Given the description of an element on the screen output the (x, y) to click on. 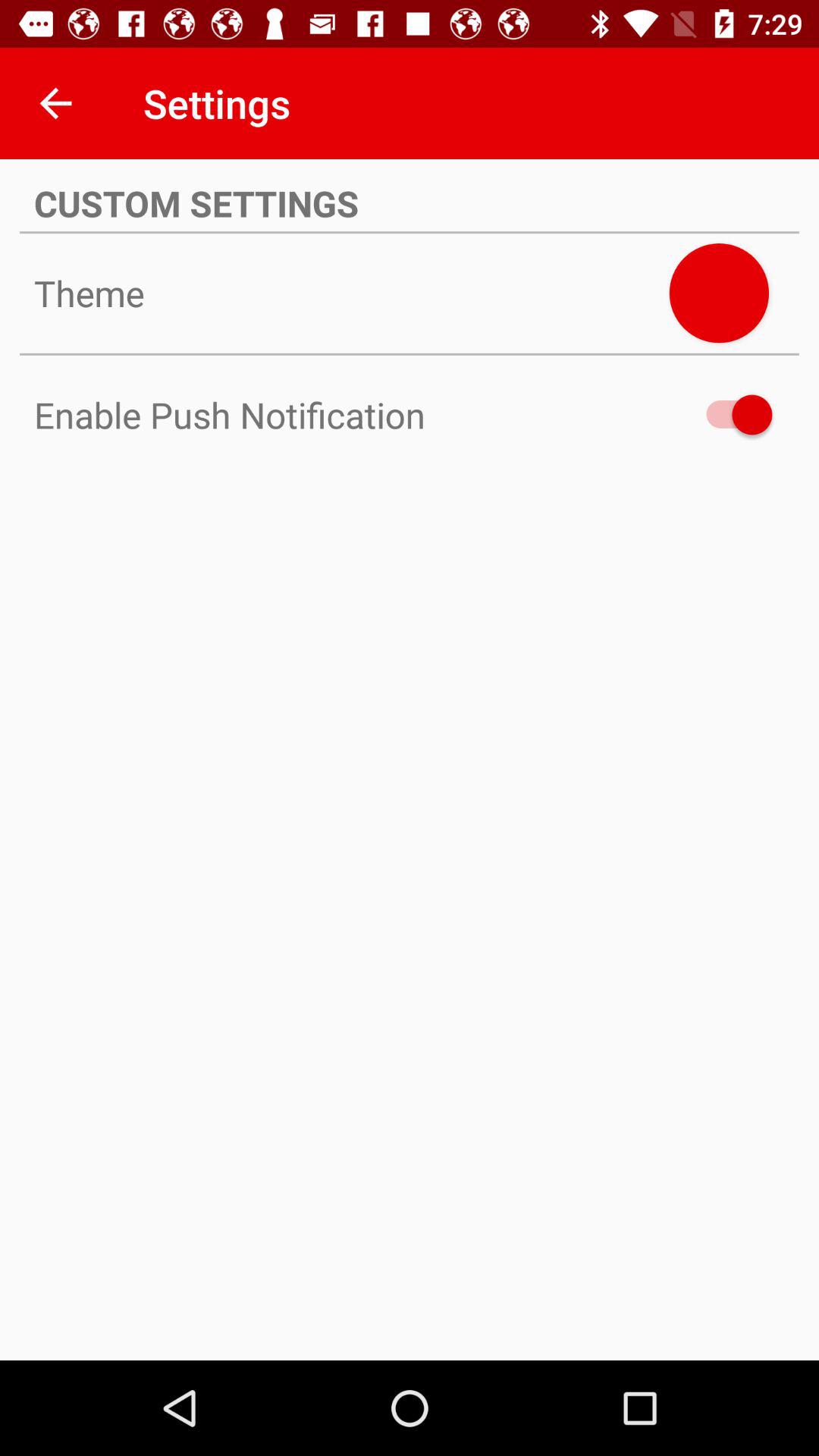
toggle push notifications (731, 414)
